Given the description of an element on the screen output the (x, y) to click on. 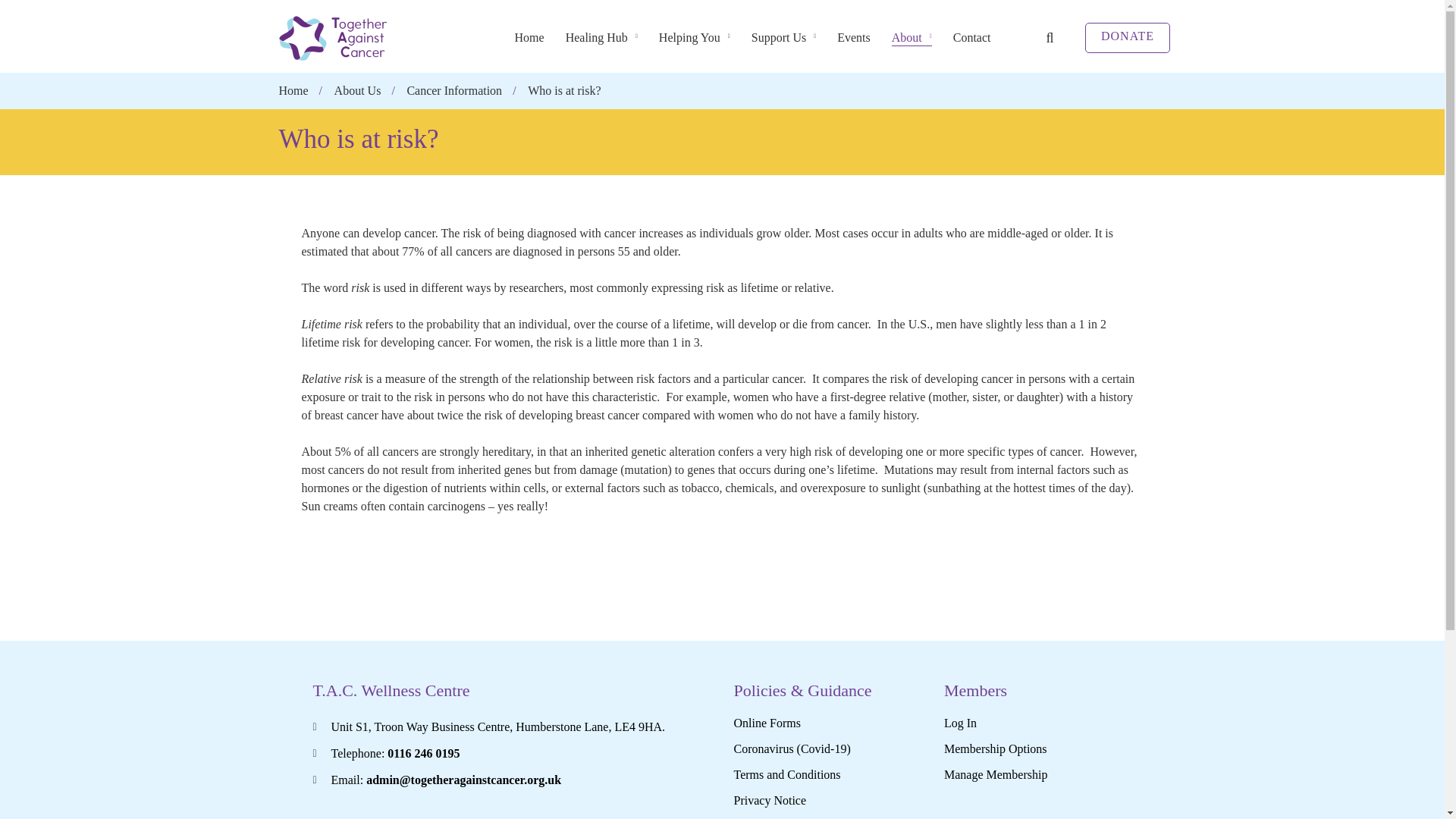
Helping You (694, 37)
About (911, 37)
Healing Hub (601, 37)
Support Us (783, 37)
